Given the description of an element on the screen output the (x, y) to click on. 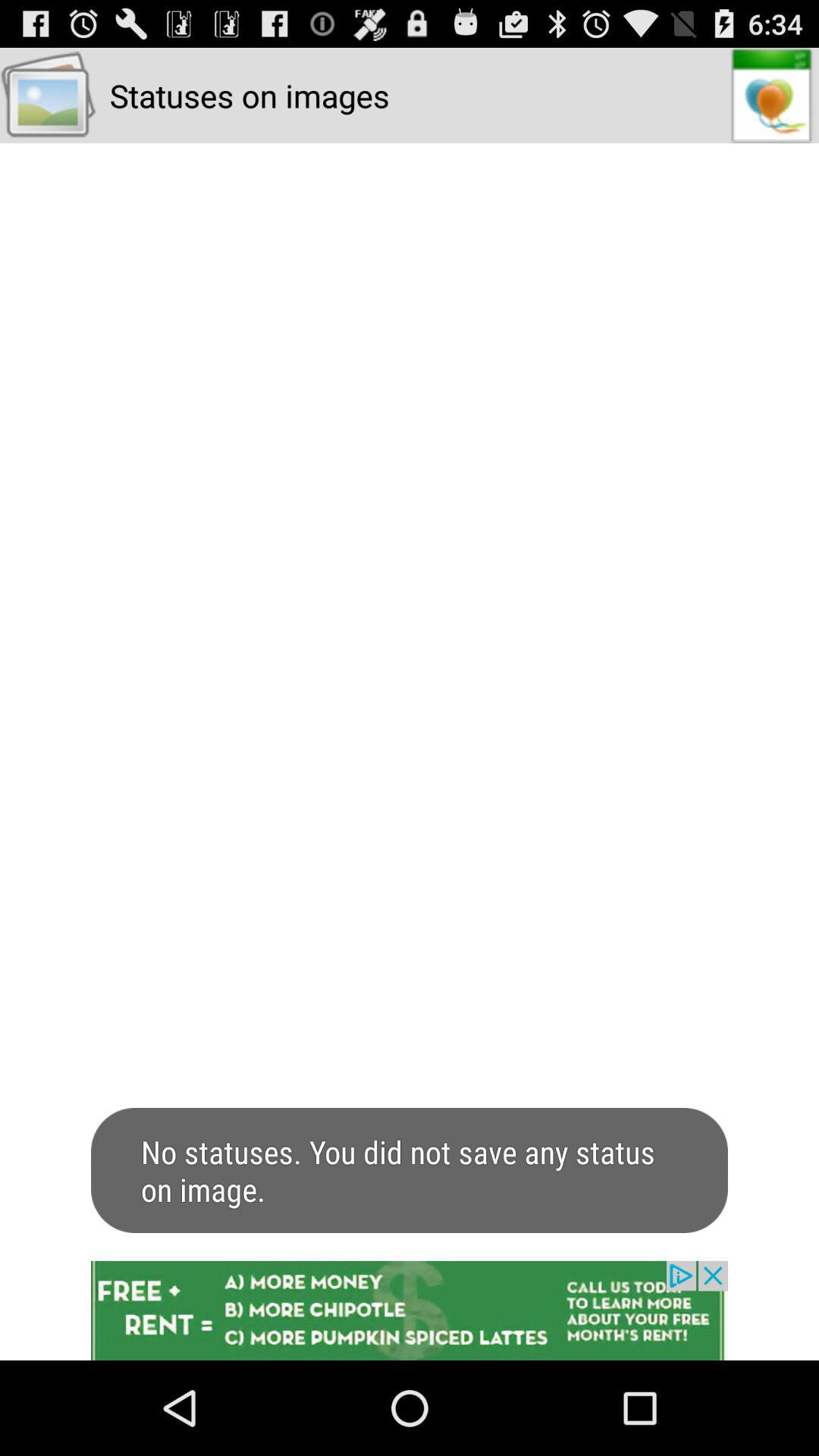
advertisement (409, 1310)
